Given the description of an element on the screen output the (x, y) to click on. 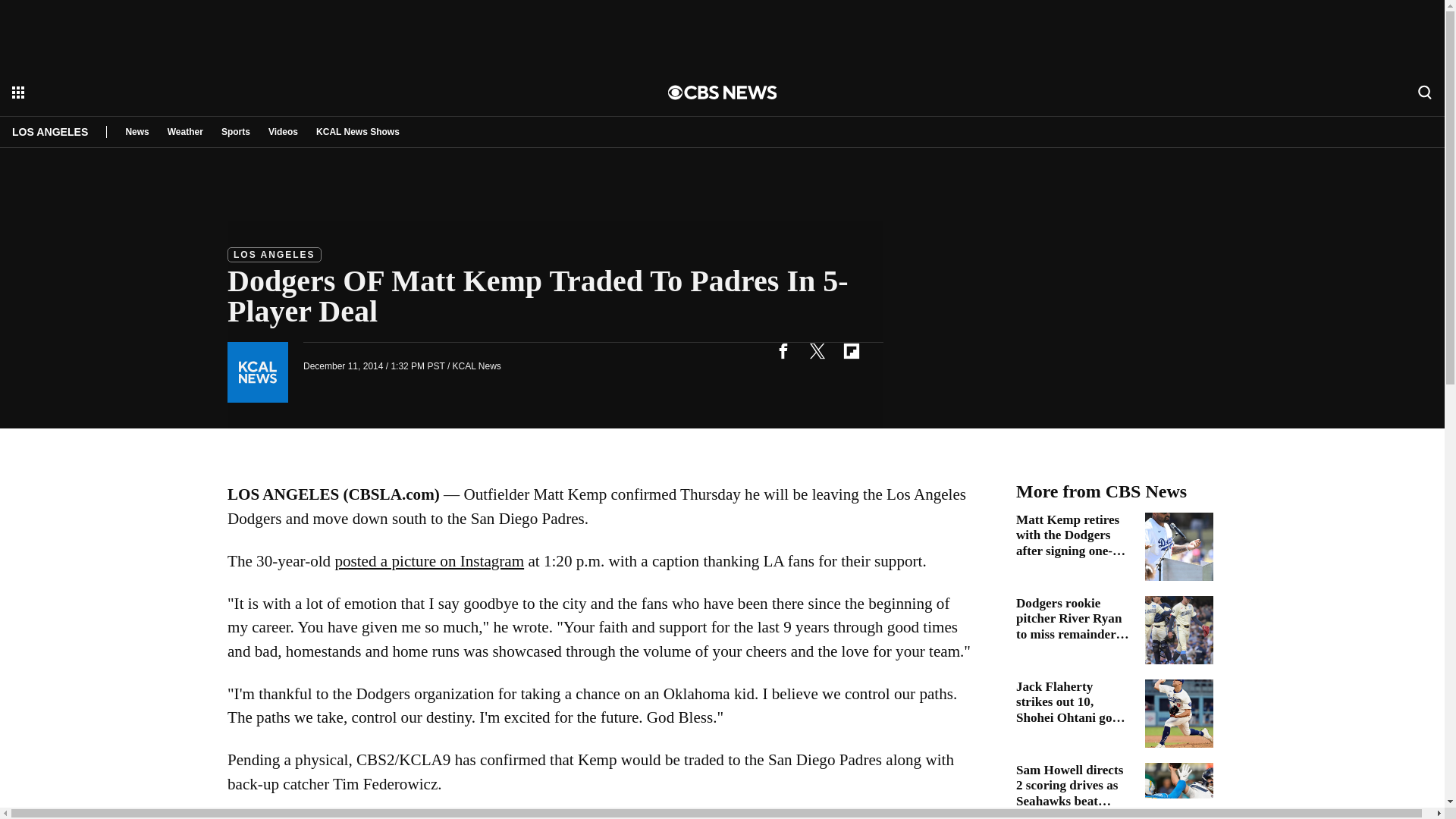
facebook (782, 350)
twitter (816, 350)
flipboard (850, 350)
